Given the description of an element on the screen output the (x, y) to click on. 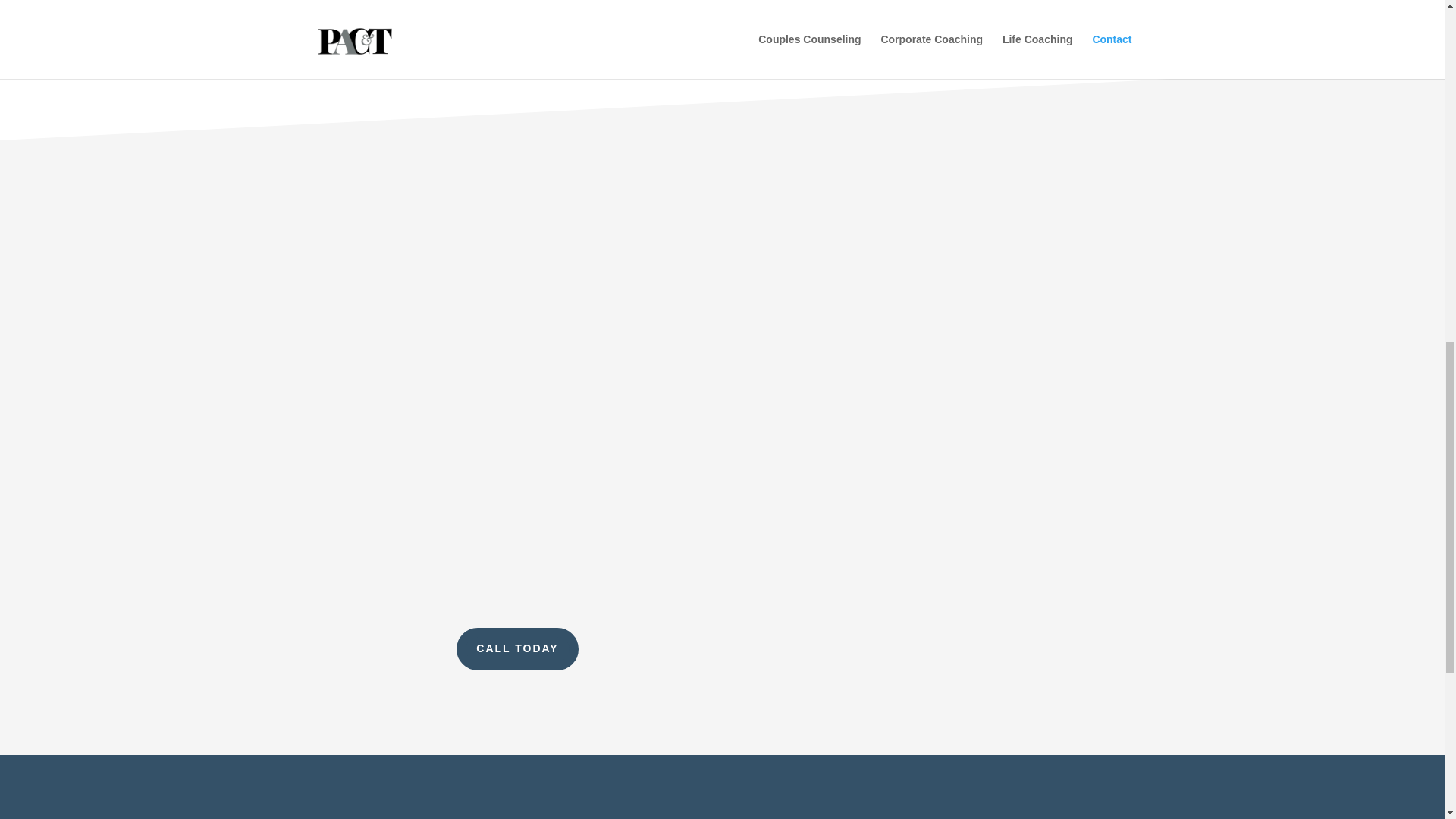
CALL TODAY (517, 649)
paul-anderson (506, 2)
